Given the description of an element on the screen output the (x, y) to click on. 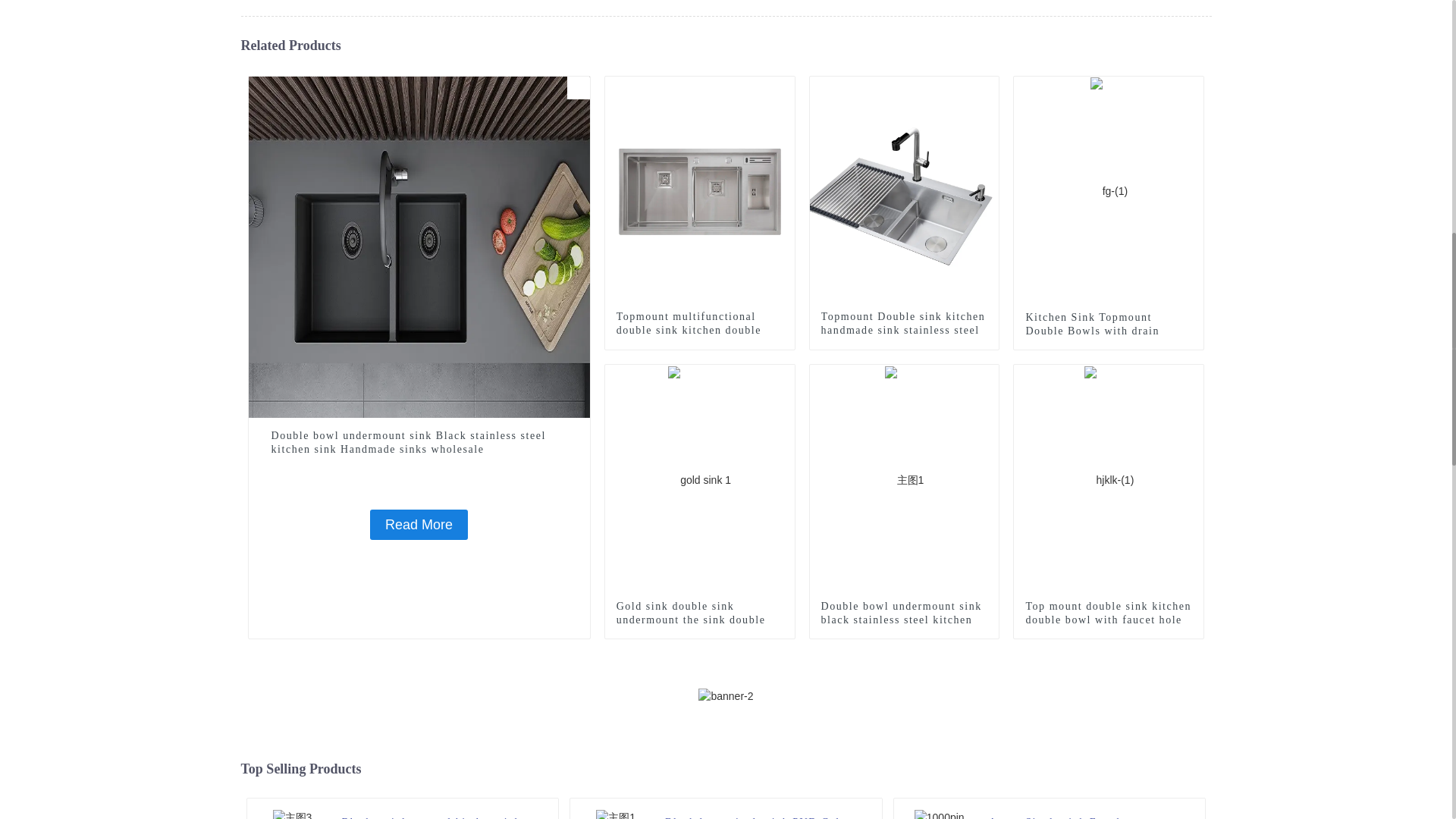
8644Dsink 750 (578, 87)
Read More (418, 524)
